Given the description of an element on the screen output the (x, y) to click on. 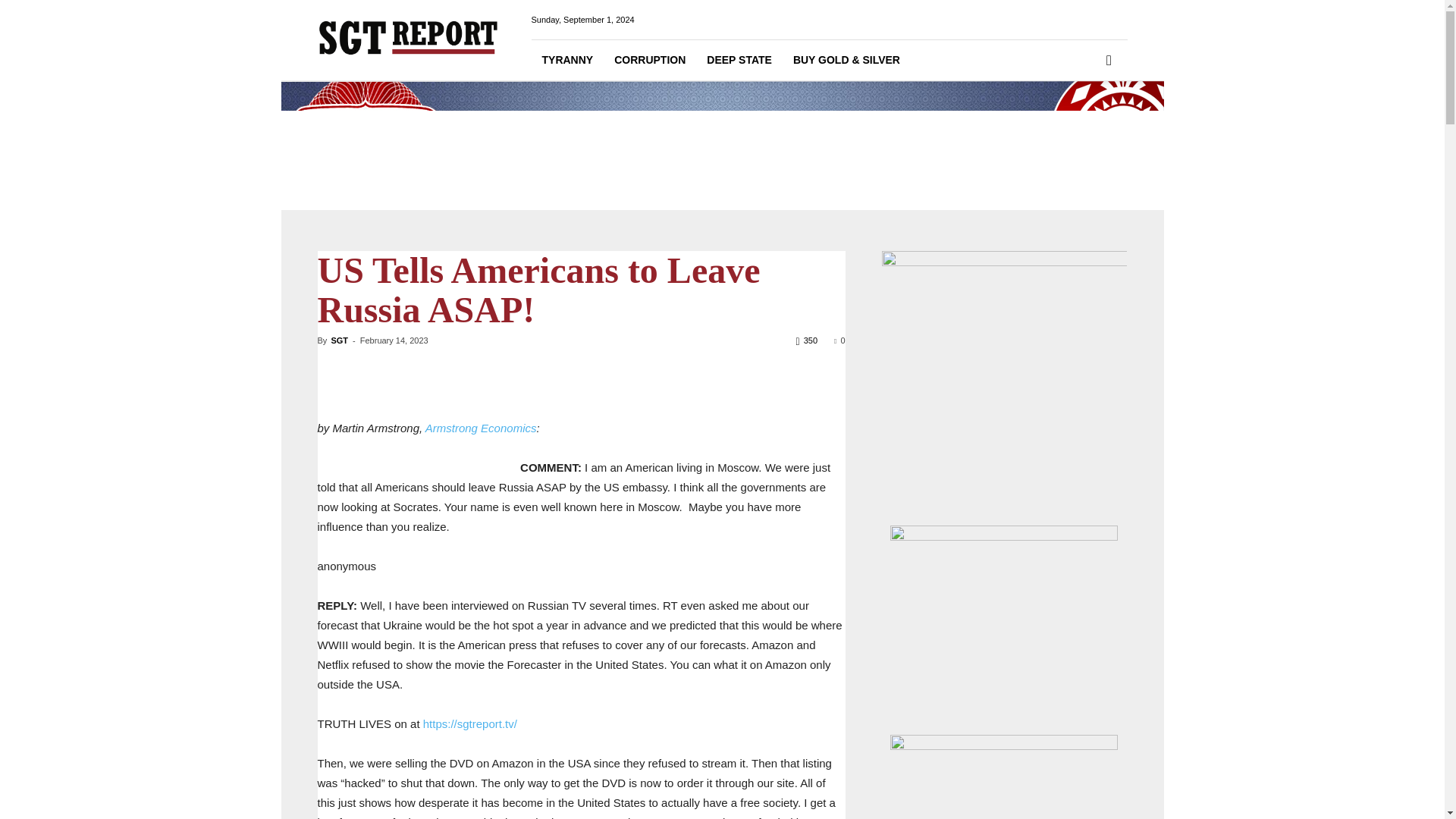
DEEP STATE (739, 60)
Search (1085, 122)
Armstrong Economics (481, 427)
0 (839, 339)
CORRUPTION (649, 60)
SGT (338, 339)
TYRANNY (567, 60)
